Given the description of an element on the screen output the (x, y) to click on. 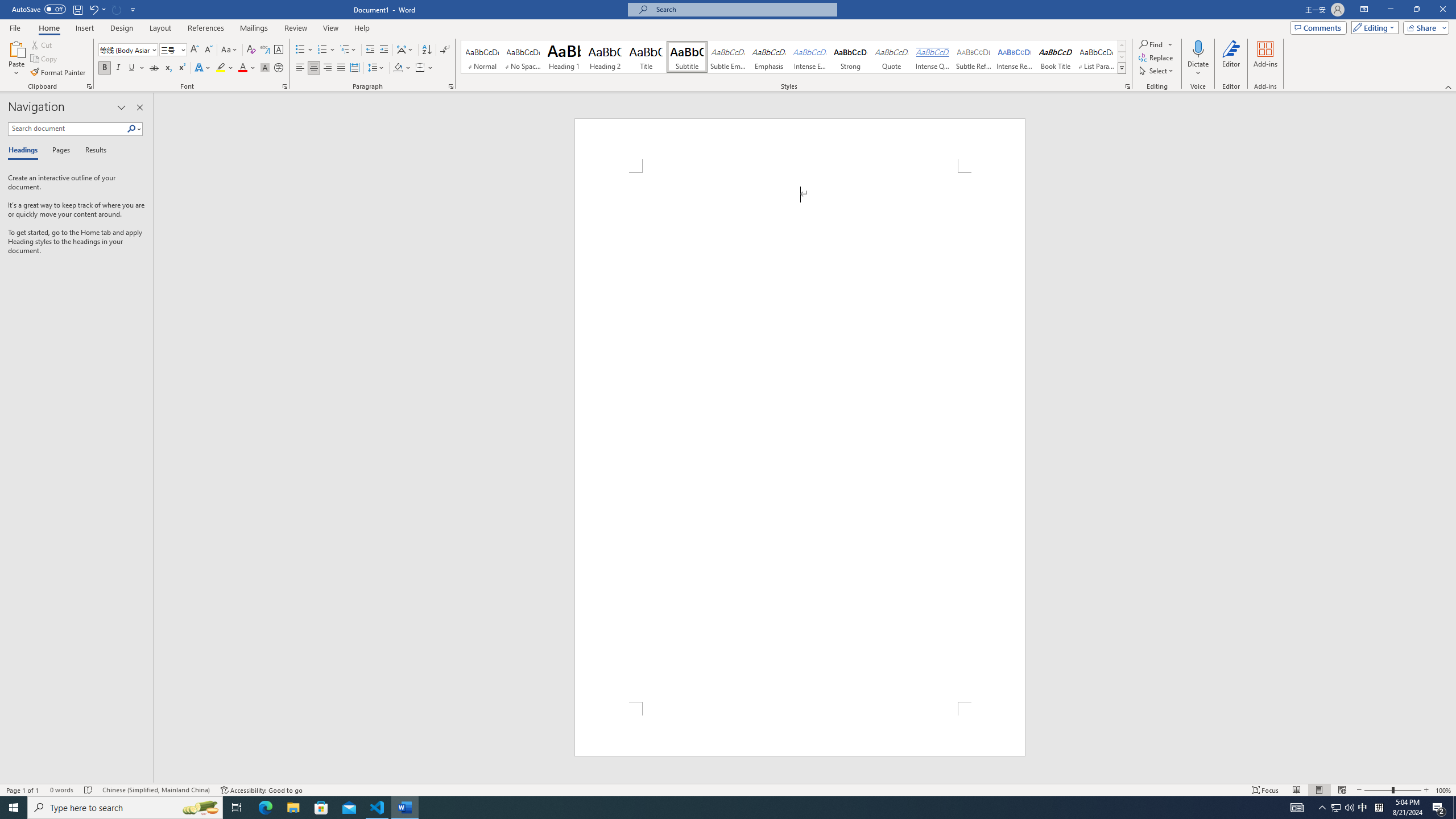
Subtle Emphasis (727, 56)
